Given the description of an element on the screen output the (x, y) to click on. 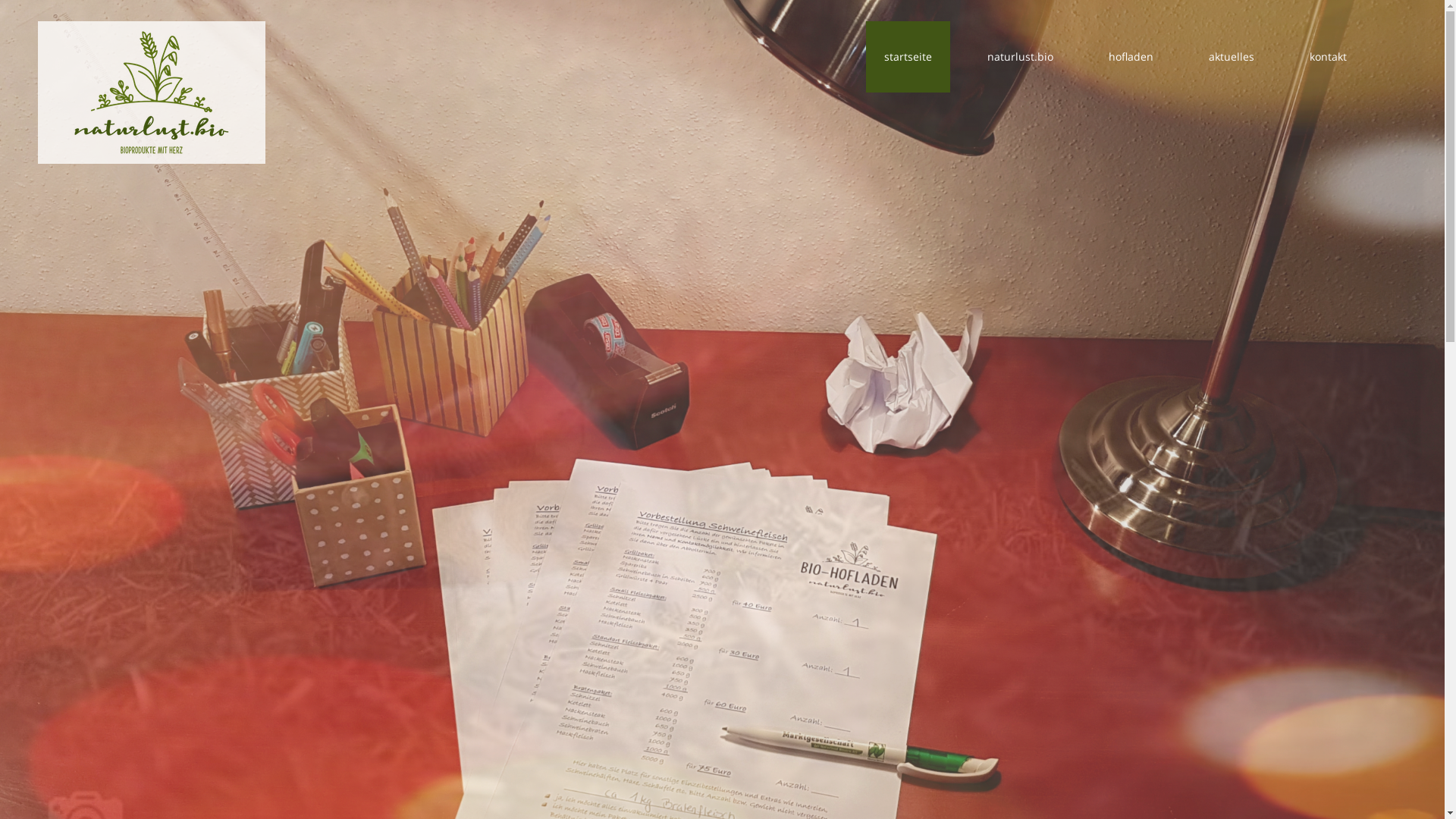
kontakt Element type: text (1328, 56)
naturlust.bio Element type: text (1020, 56)
aktuelles Element type: text (1231, 56)
hofladen Element type: text (1130, 56)
ZUM ONLINE-BESTELLFORMULAR Element type: text (721, 477)
startseite Element type: text (908, 56)
